Given the description of an element on the screen output the (x, y) to click on. 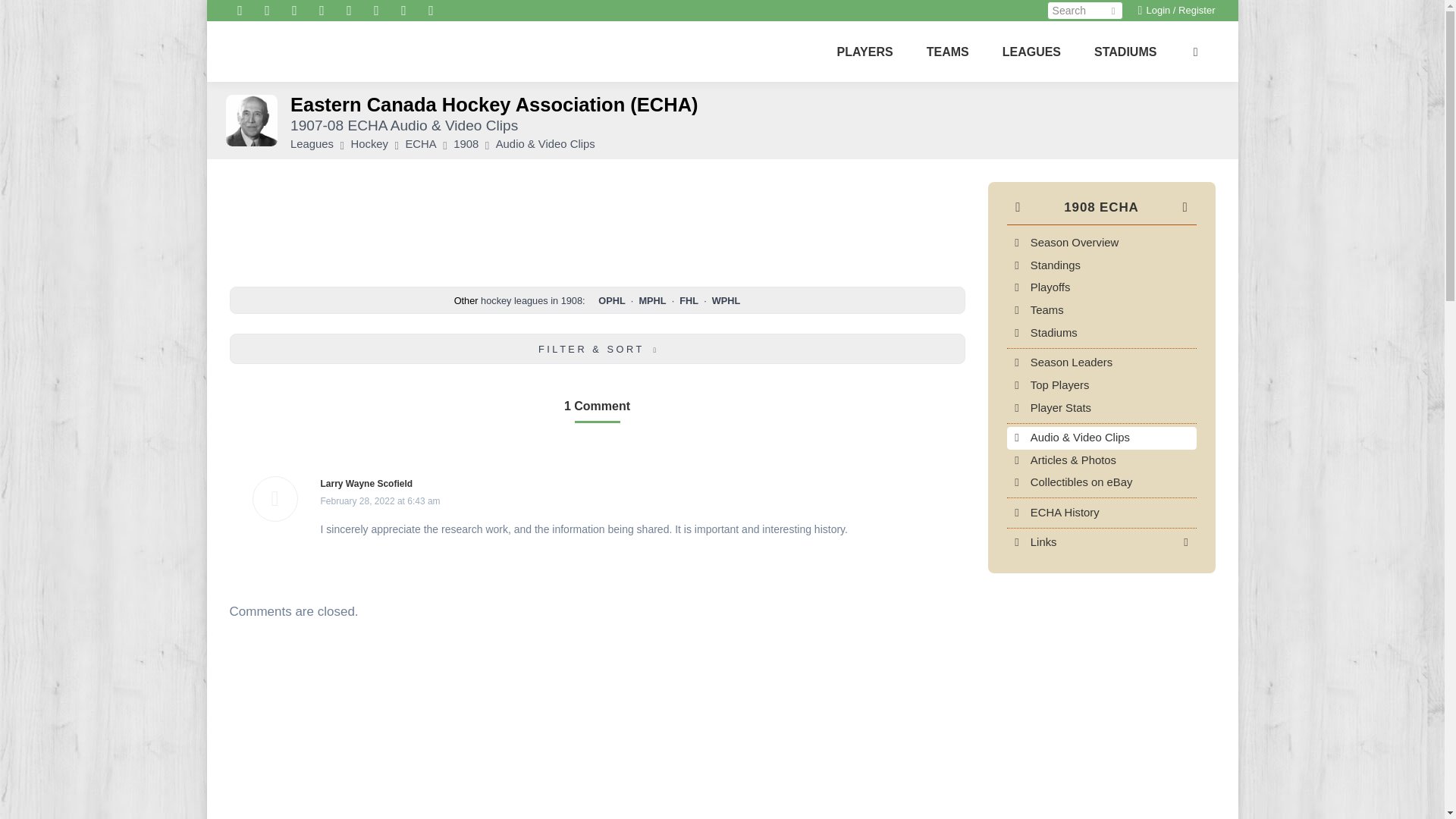
Mail (430, 10)
YouTube (239, 10)
View the 1907-08 ECHA season Wikipedia page (1186, 542)
Twitter (376, 10)
Facebook (403, 10)
YouTube (239, 10)
Mail (430, 10)
Instagram (267, 10)
PLAYERS (864, 51)
Twitter (376, 10)
